Given the description of an element on the screen output the (x, y) to click on. 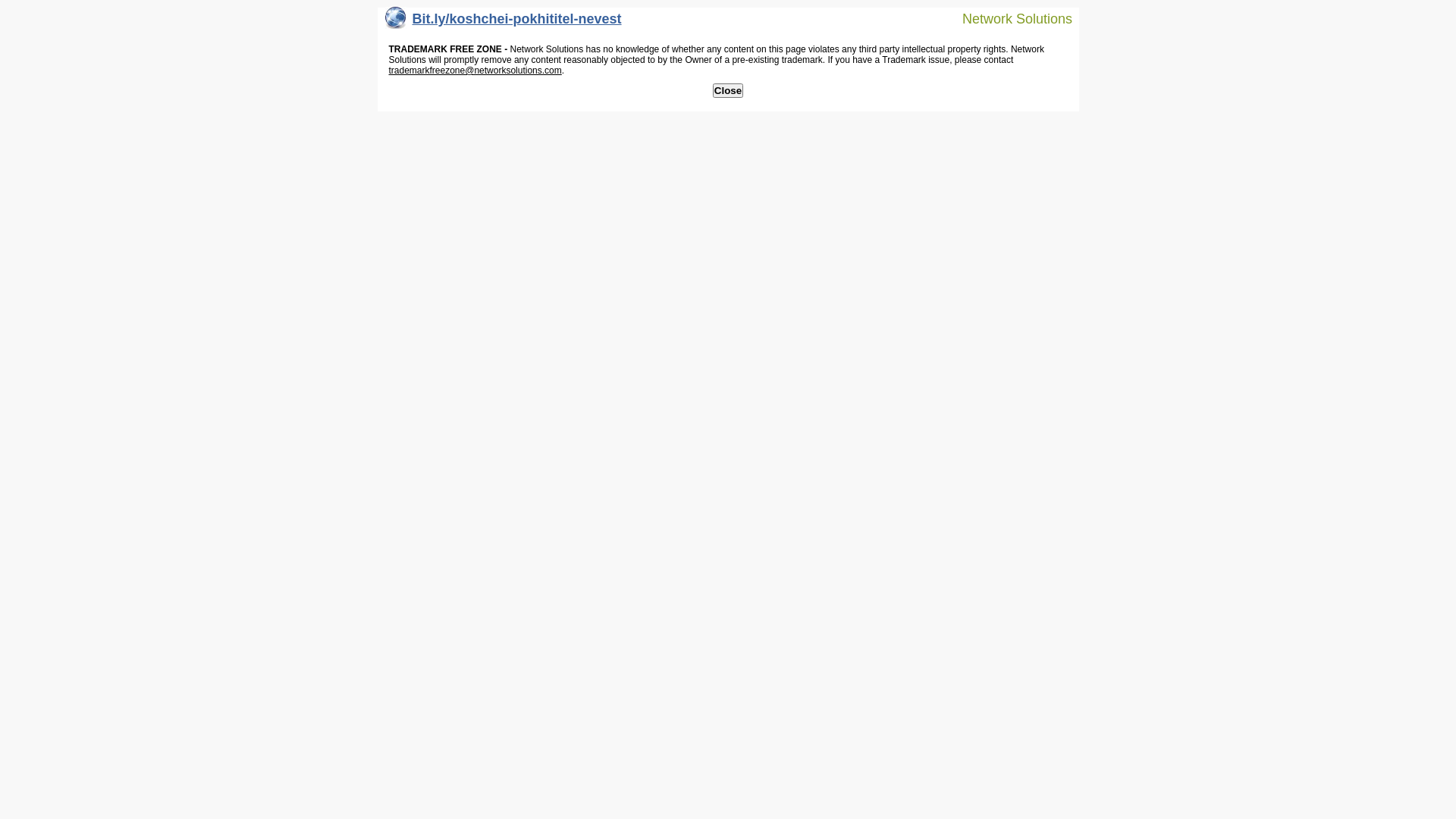
Close Element type: text (727, 90)
trademarkfreezone@networksolutions.com Element type: text (474, 70)
Network Solutions Element type: text (1007, 17)
Bit.ly/koshchei-pokhititel-nevest Element type: text (503, 21)
